Given the description of an element on the screen output the (x, y) to click on. 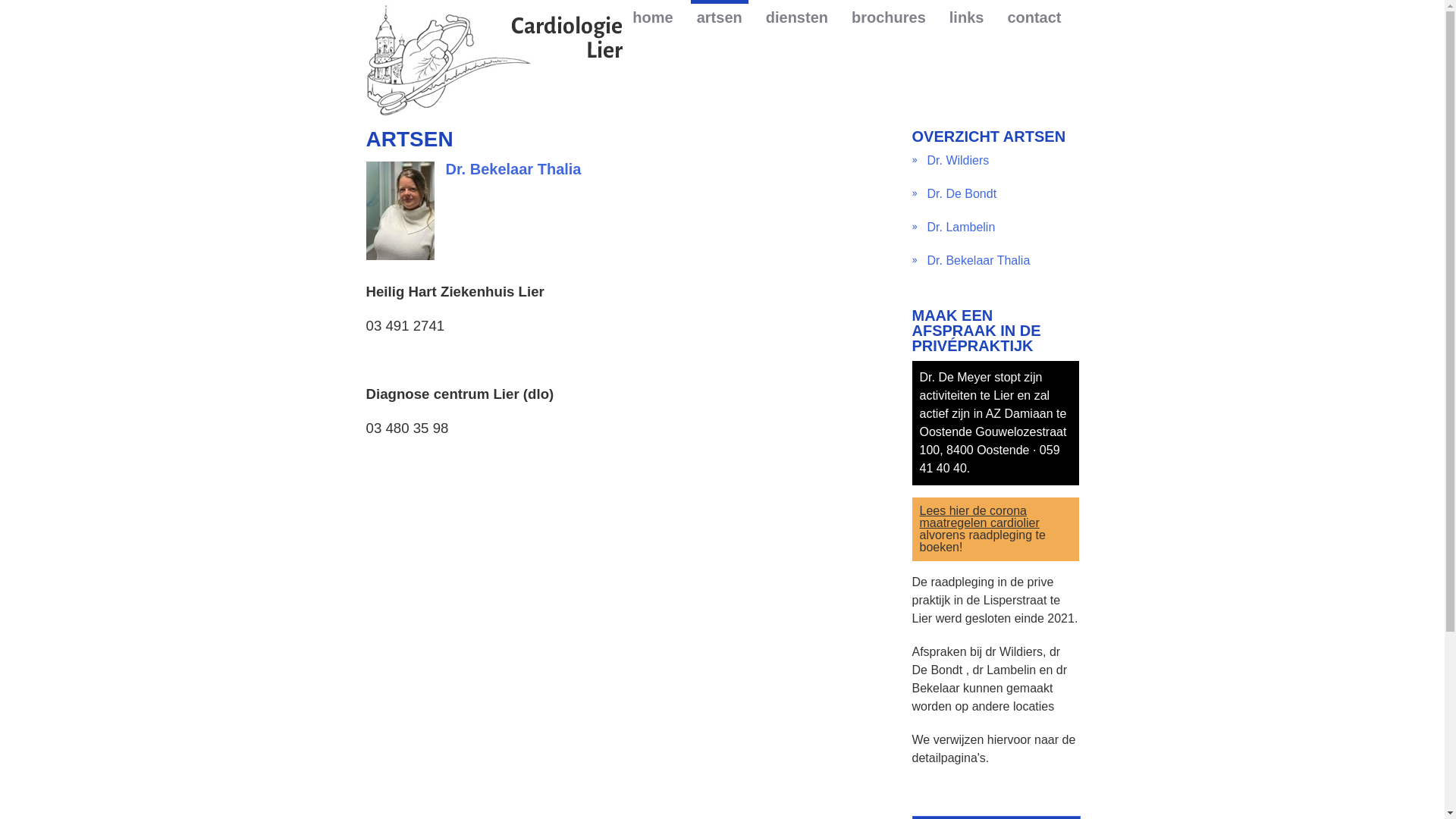
Dr. Bekelaar Thalia Element type: text (977, 260)
Lees hier de corona maatregelen cardiolier Element type: text (978, 516)
Dr. Lambelin Element type: text (960, 226)
home Element type: text (652, 17)
contact Element type: text (1033, 17)
artsen Element type: text (719, 15)
diensten Element type: text (796, 17)
Dr. Wildiers Element type: text (957, 159)
brochures Element type: text (888, 17)
Dr. De Bondt Element type: text (961, 193)
Cardiologie Lier Element type: text (493, 58)
links Element type: text (966, 17)
